Given the description of an element on the screen output the (x, y) to click on. 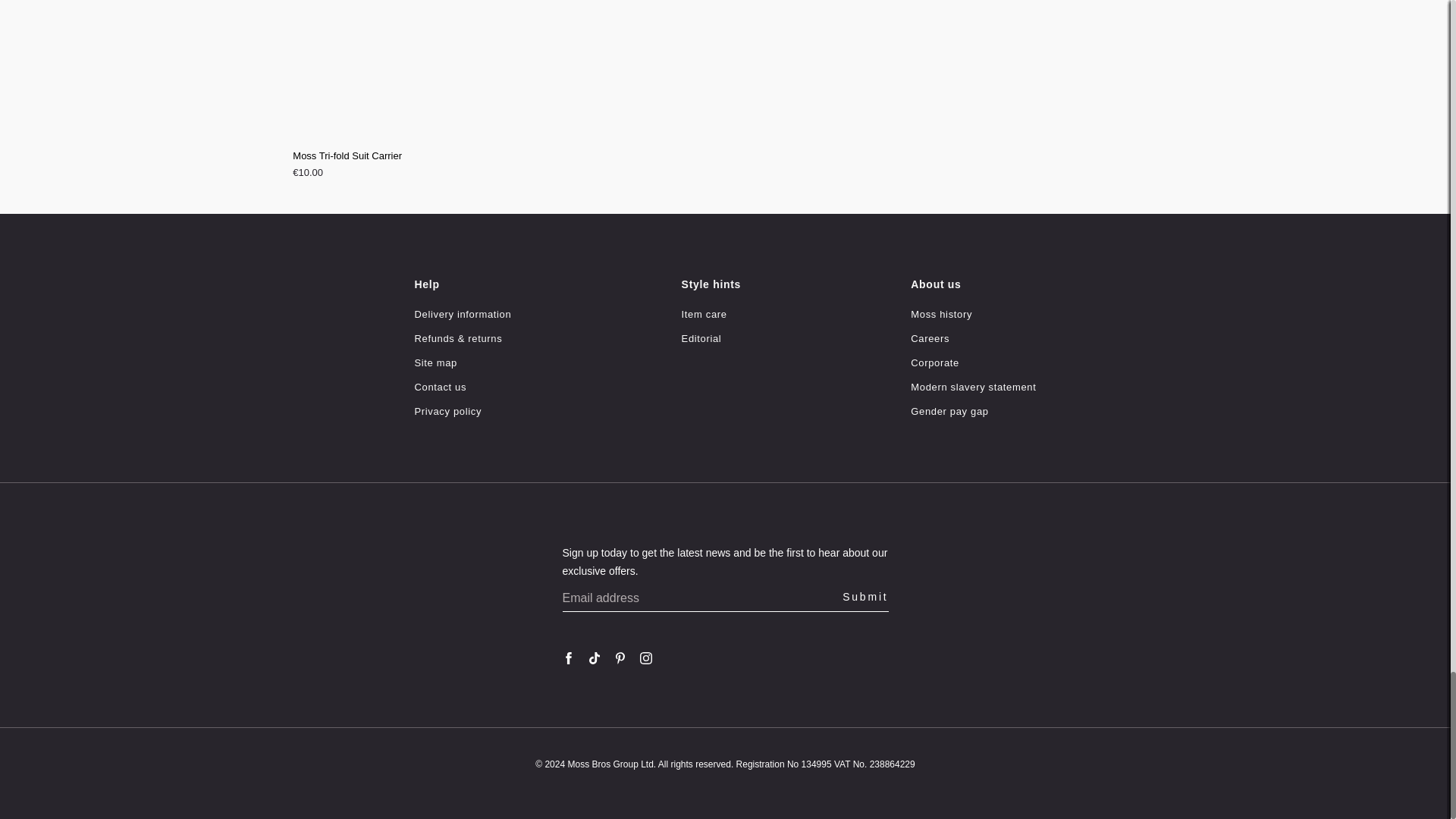
Moss Tri-fold Suit Carrier  966885317 (724, 72)
Moss Tri-fold Suit Carrier  966885317 (724, 166)
Moss Tri-fold Suit Carrier  (724, 155)
